Given the description of an element on the screen output the (x, y) to click on. 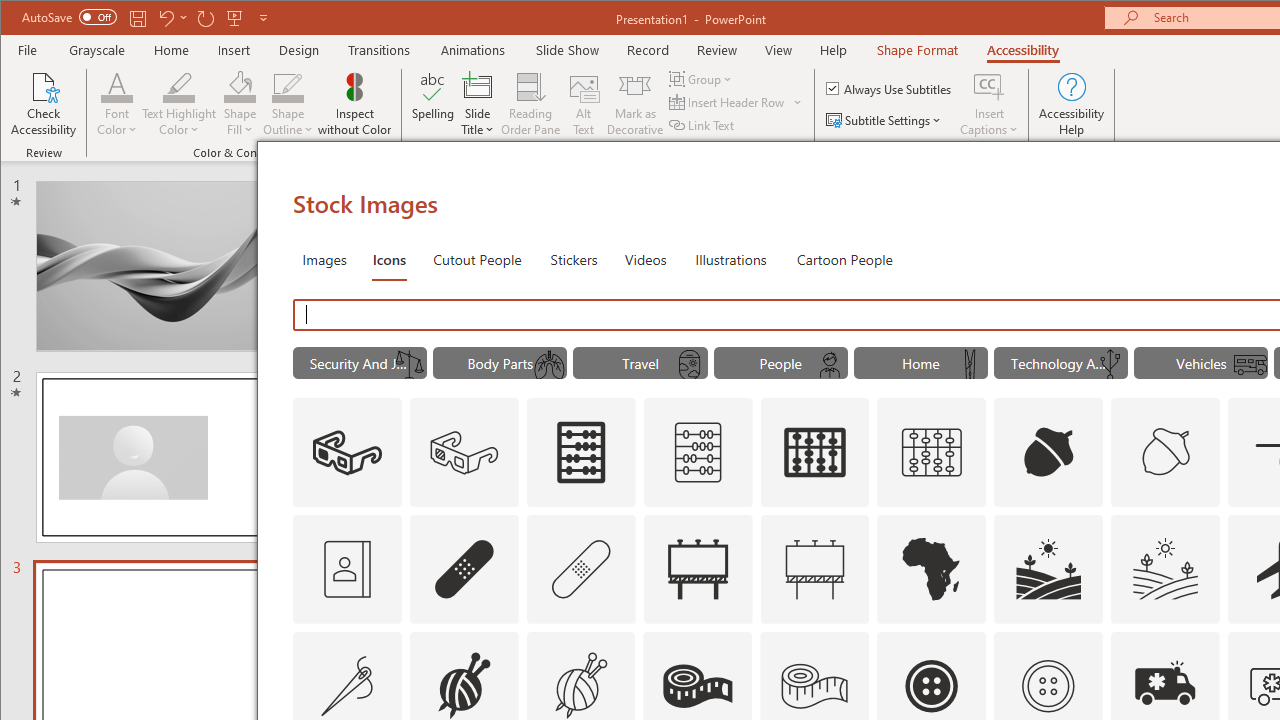
AutomationID: Icons_AdhesiveBandage (463, 568)
Videos (645, 258)
Shape Fill Orange, Accent 2 (239, 86)
Accessibility (1023, 50)
Cutout People (477, 258)
Alt Text (584, 104)
Link Text (703, 124)
Font Color (116, 104)
Stickers (574, 258)
